Given the description of an element on the screen output the (x, y) to click on. 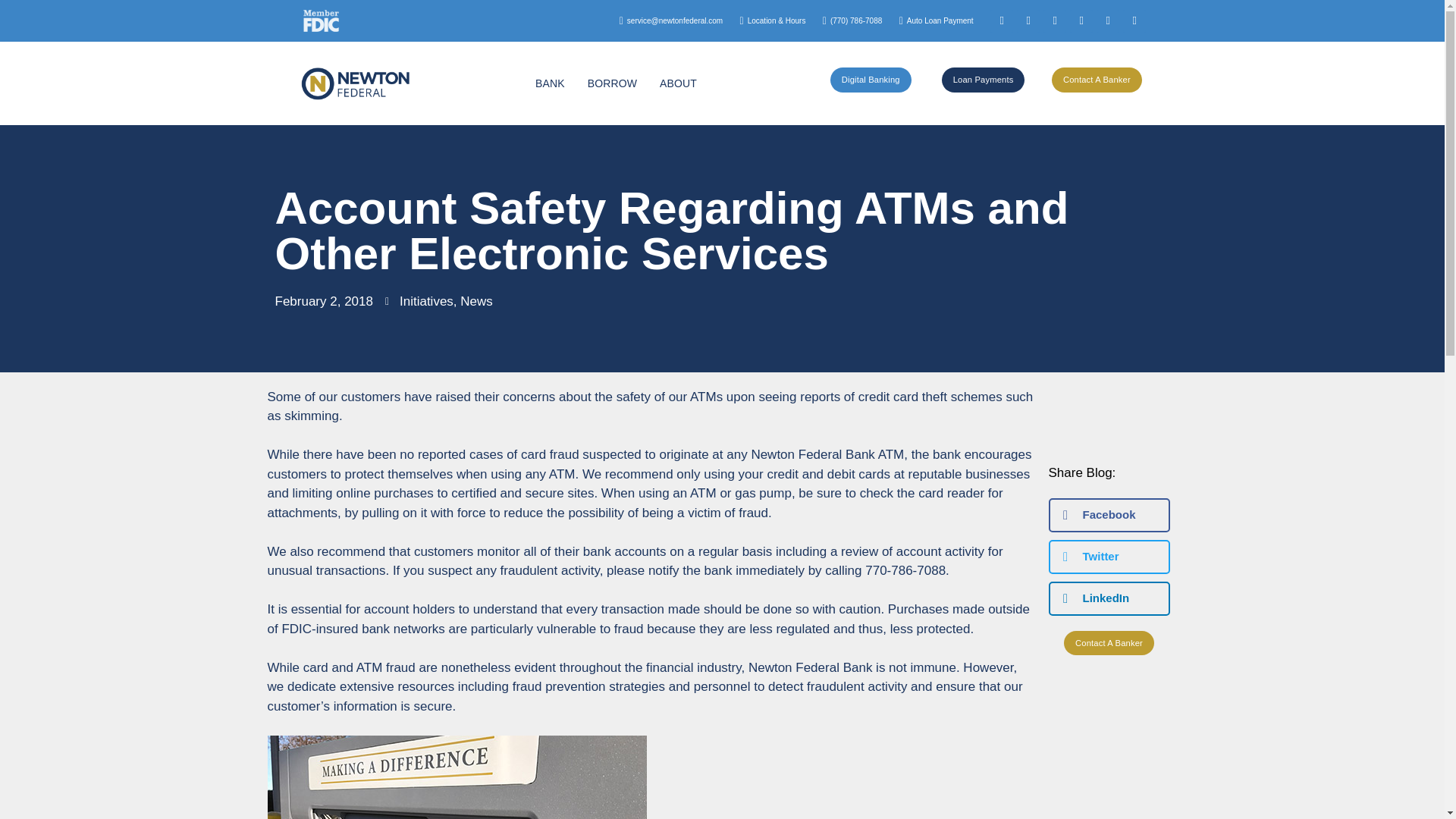
BORROW (615, 83)
Auto Loan Payment (930, 20)
BANK (553, 83)
